Given the description of an element on the screen output the (x, y) to click on. 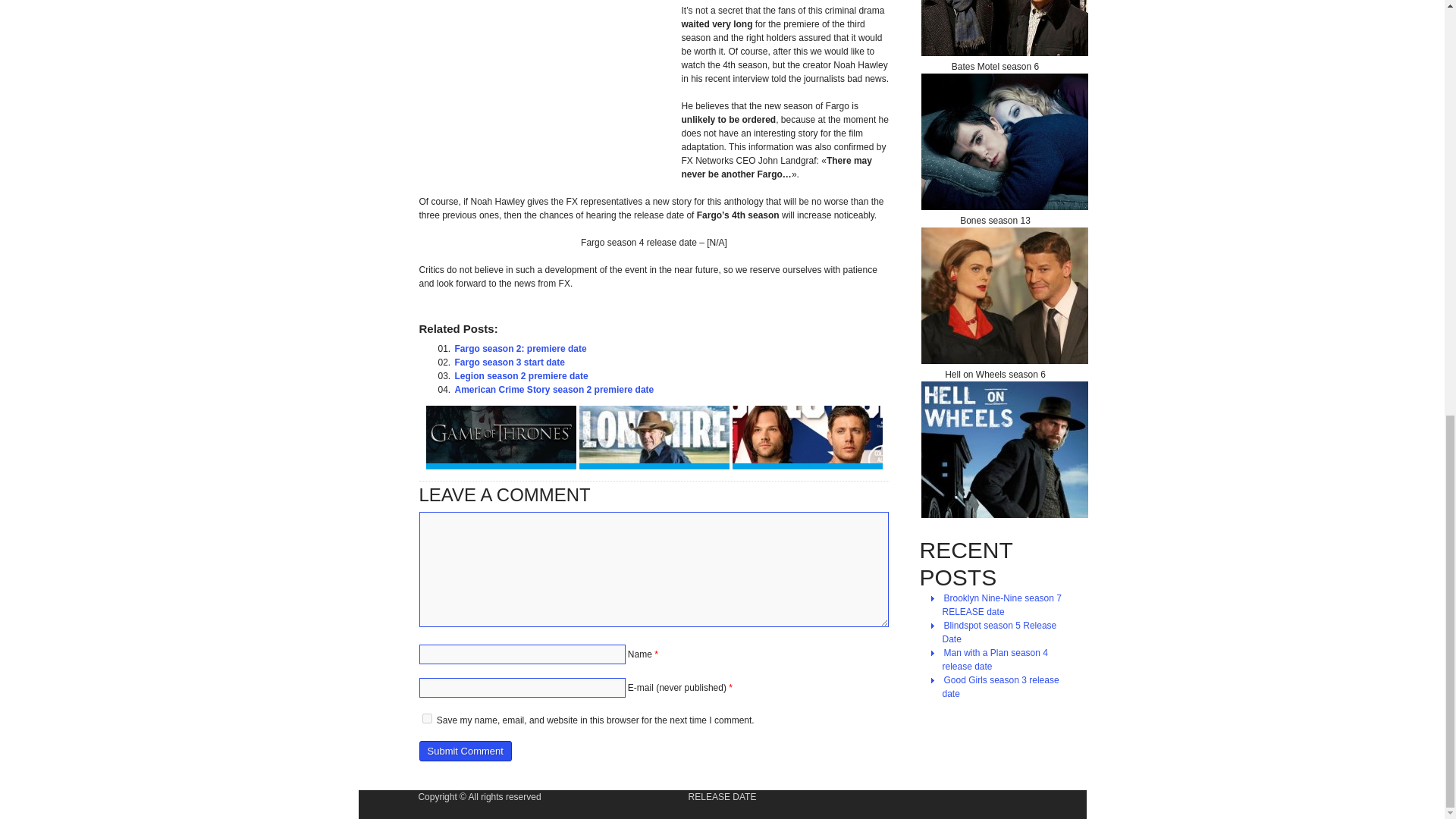
Blindspot season 5 Release Date (999, 632)
Man with a Plan season 4 release date (994, 659)
Fargo season 3 start date (509, 362)
Fargo season 3 start date (509, 362)
Submit Comment (465, 751)
Fargo season 2: premiere date (520, 348)
Brooklyn Nine-Nine season 7 RELEASE date (1001, 605)
Legion season 2 premiere date (520, 376)
yes (426, 718)
Advertisement (545, 84)
